Given the description of an element on the screen output the (x, y) to click on. 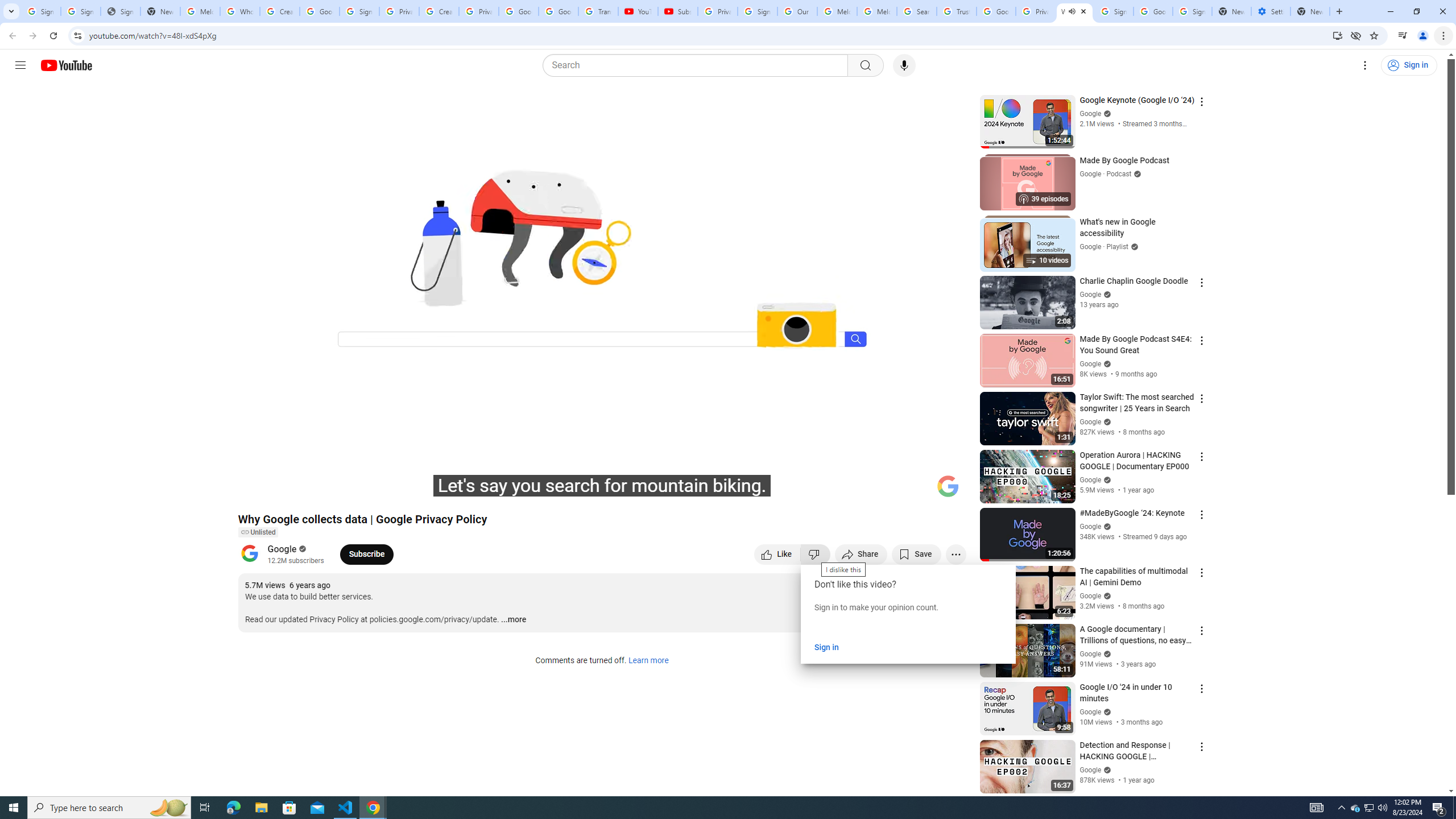
New Tab (1310, 11)
Create your Google Account (438, 11)
Settings - Addresses and more (1270, 11)
Sign in - Google Accounts (80, 11)
Pause (k) (257, 490)
